Given the description of an element on the screen output the (x, y) to click on. 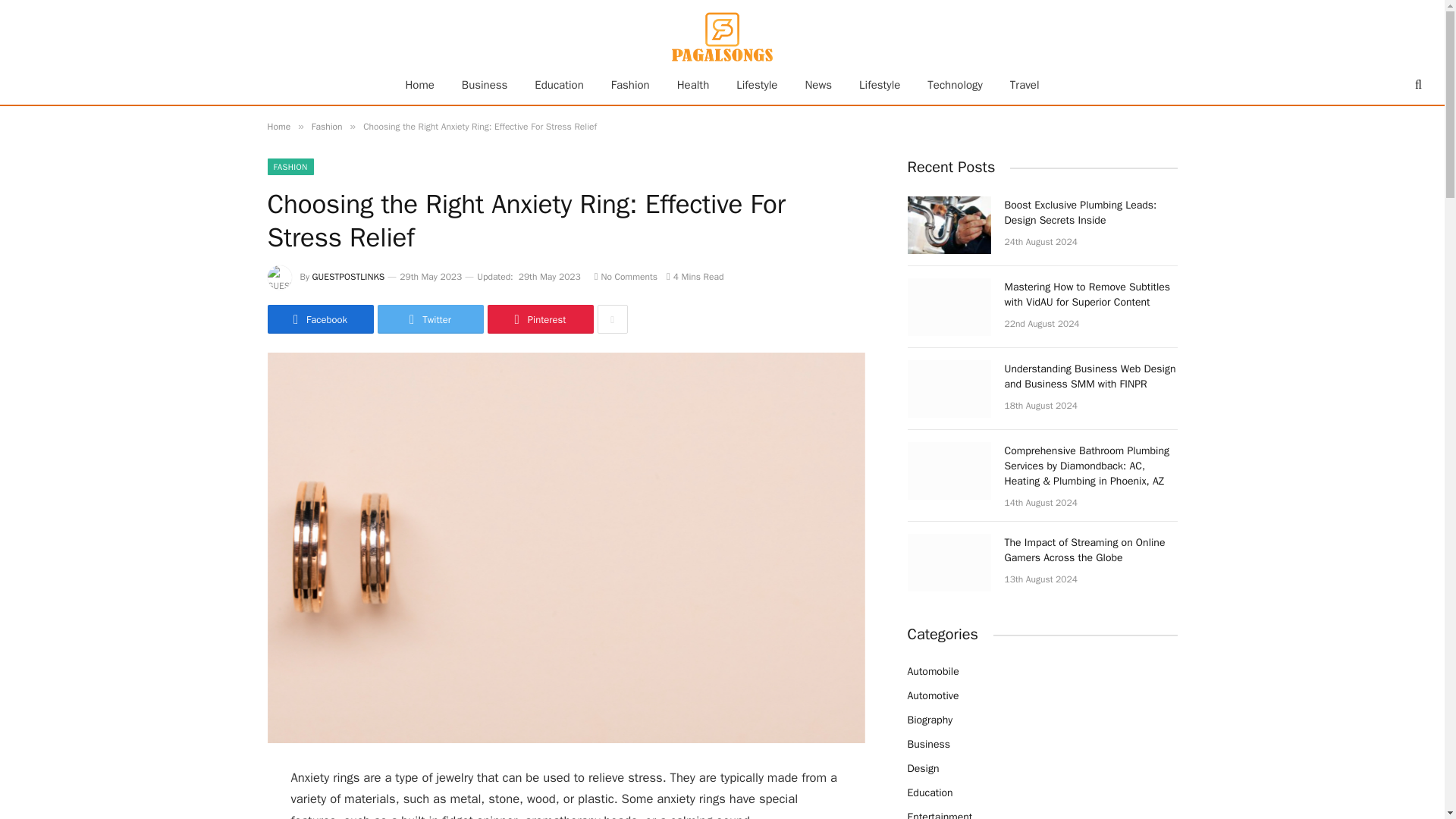
No Comments (626, 276)
Pagalsongs (721, 34)
Health (693, 84)
Show More Social Sharing (611, 318)
Home (418, 84)
Twitter (430, 318)
Fashion (326, 126)
Lifestyle (756, 84)
Technology (954, 84)
